Given the description of an element on the screen output the (x, y) to click on. 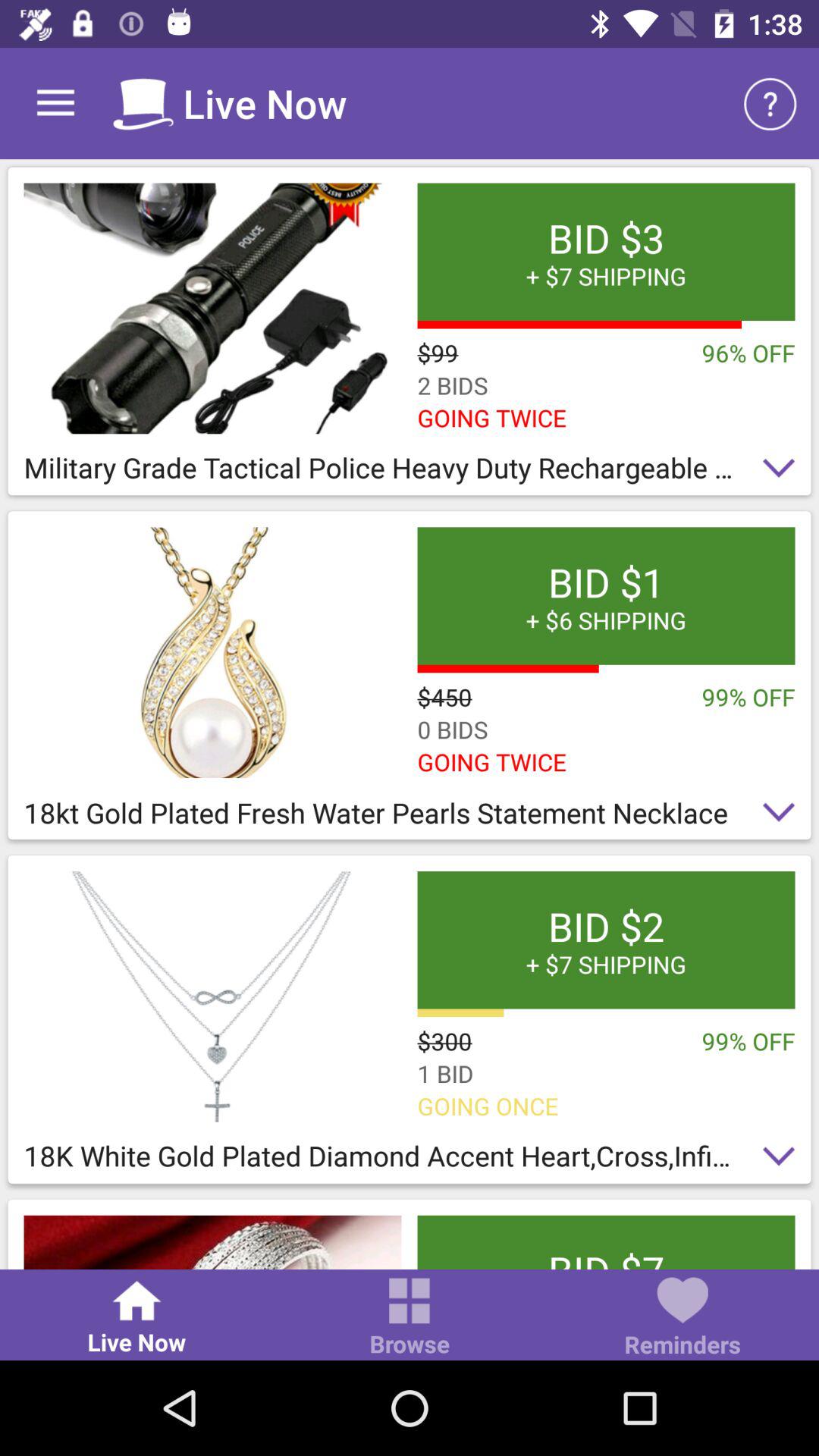
enlarge picture (212, 1242)
